Given the description of an element on the screen output the (x, y) to click on. 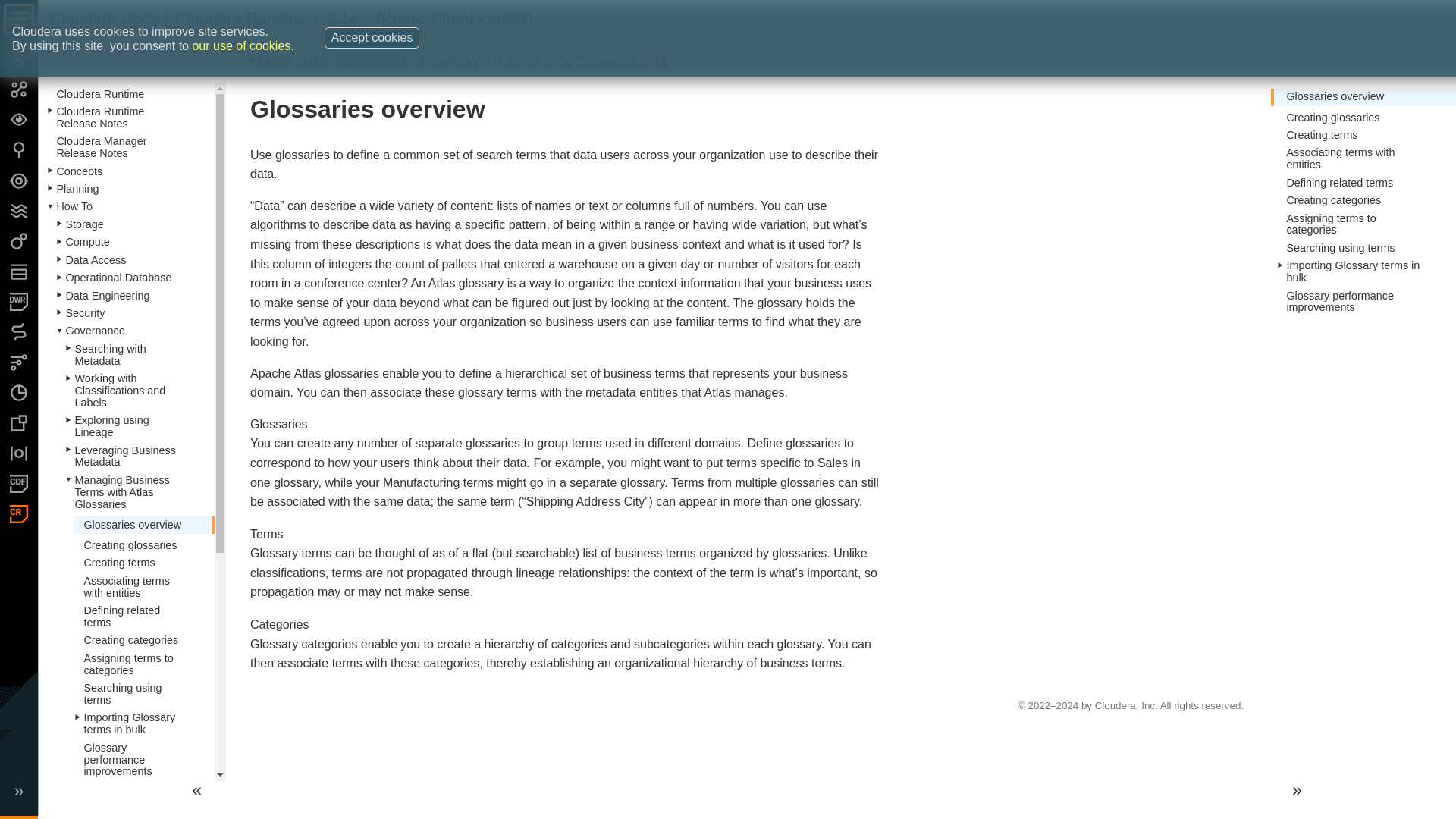
Cloudera Runtime (240, 18)
Cloudera Docs (103, 18)
